Given the description of an element on the screen output the (x, y) to click on. 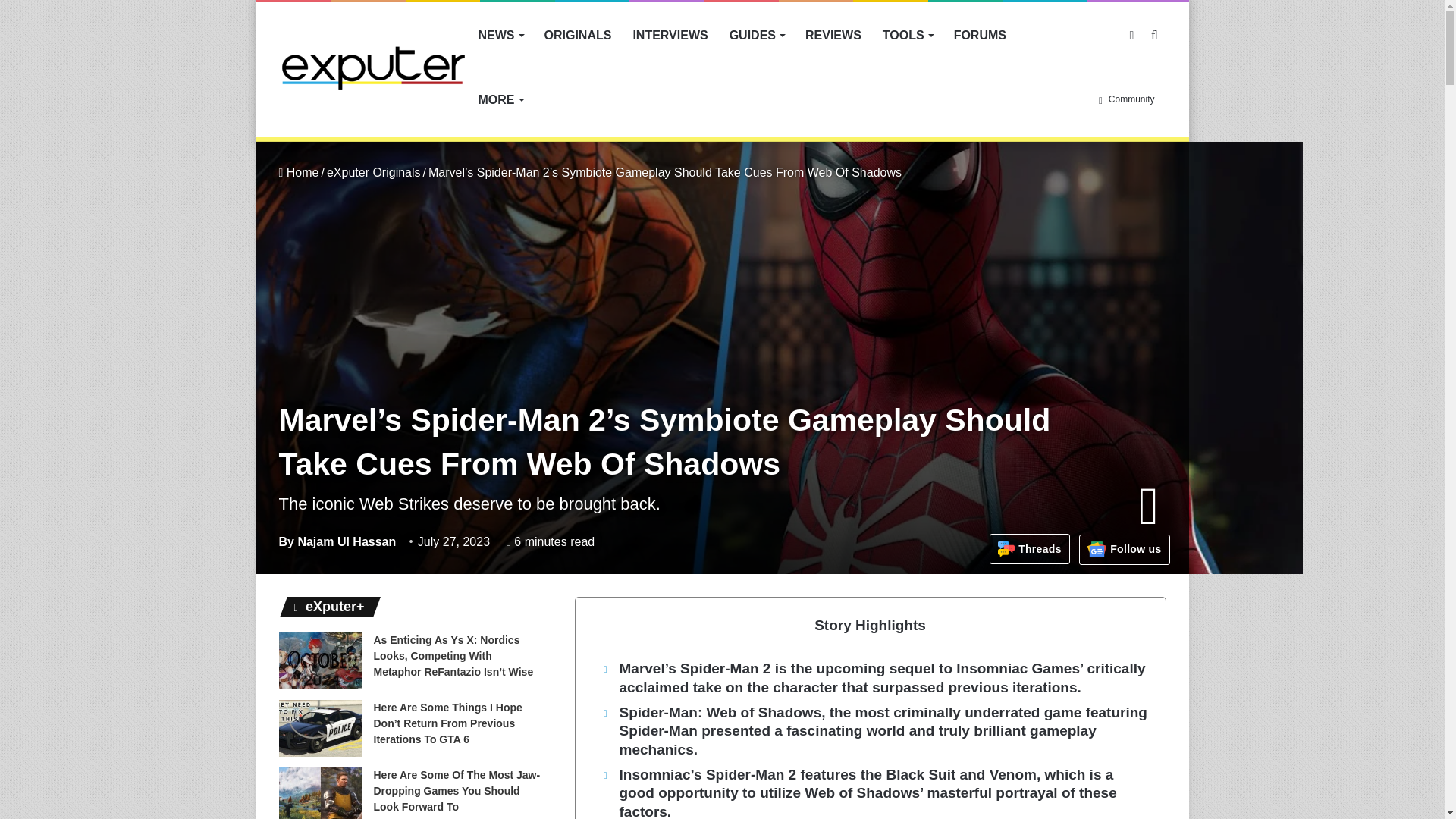
NEWS (499, 35)
eXputer.com (373, 66)
GUIDES (756, 35)
REVIEWS (833, 35)
INTERVIEWS (669, 35)
MORE (499, 99)
FORUMS (979, 35)
ORIGINALS (578, 35)
Najam Ul Hassan (337, 541)
TOOLS (907, 35)
